Given the description of an element on the screen output the (x, y) to click on. 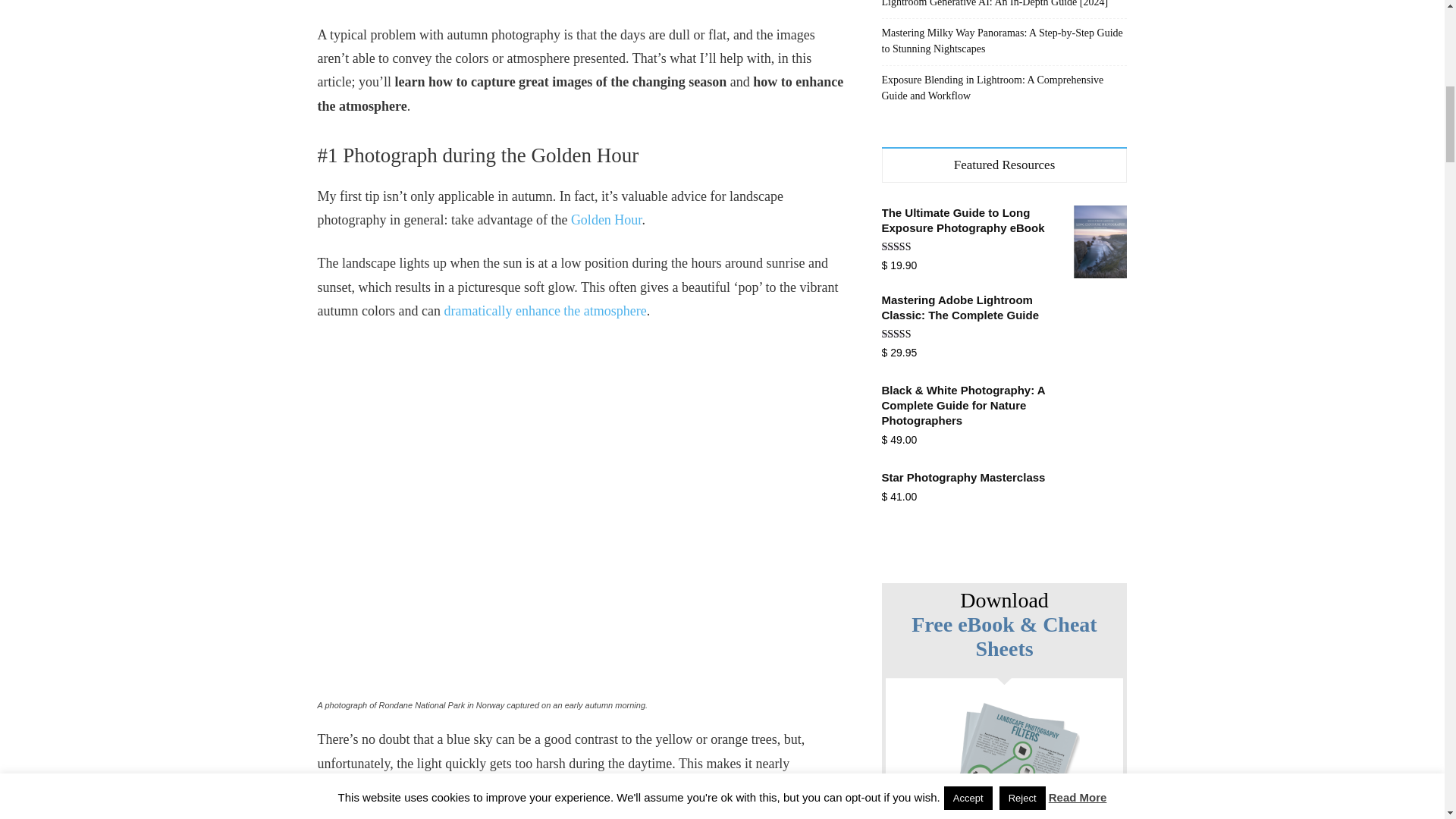
Golden Hour (606, 219)
dramatically enhance the atmosphere (545, 310)
